Given the description of an element on the screen output the (x, y) to click on. 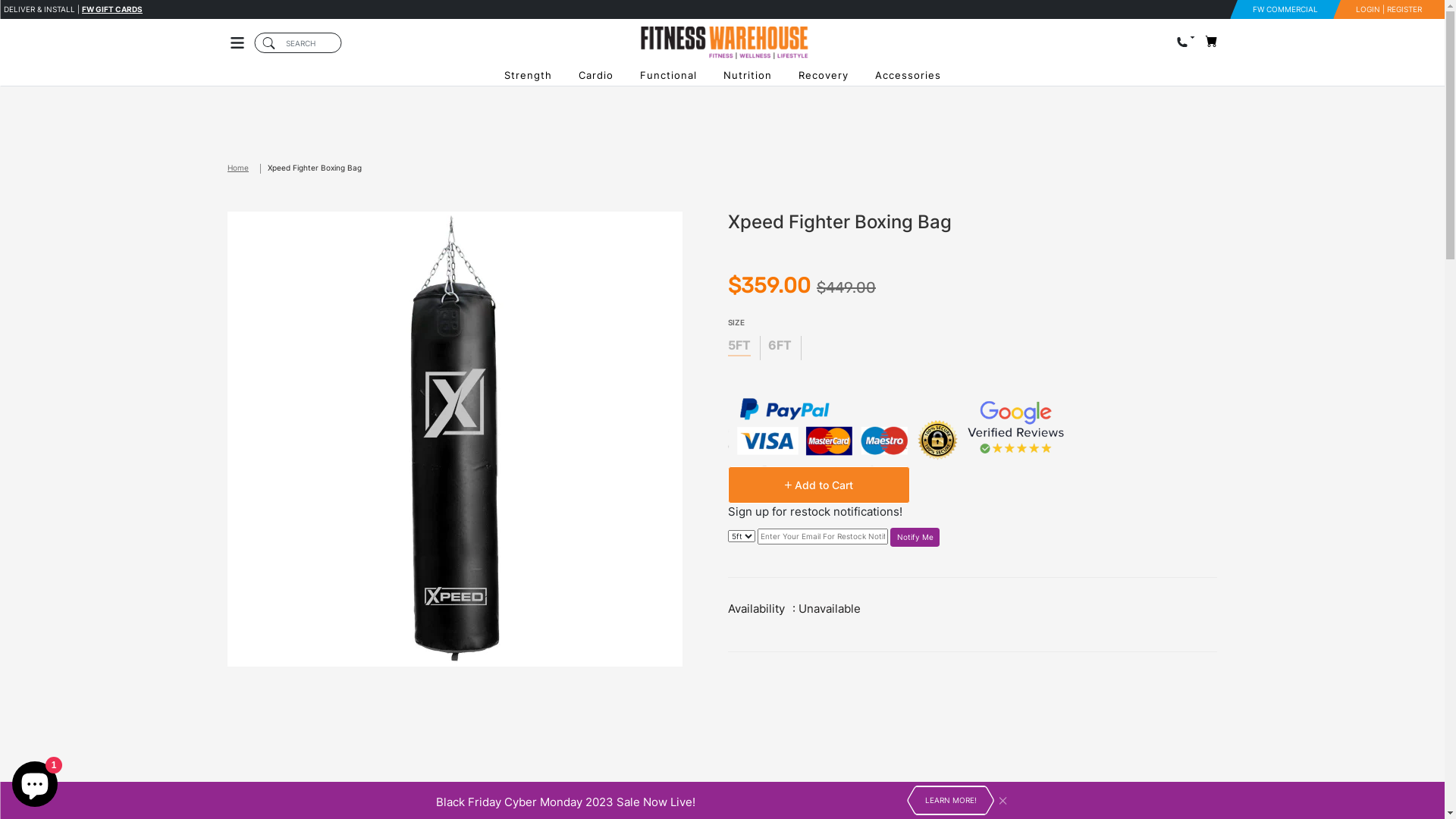
Nutrition Element type: text (747, 75)
FW COMMERCIAL Element type: text (1285, 9)
Functional Element type: text (667, 75)
DELIVER & INSTALL Element type: text (39, 9)
LOGIN Element type: text (1367, 8)
Home Element type: text (247, 167)
Accessories Element type: text (907, 75)
REGISTER Element type: text (1403, 9)
Shopify online store chat Element type: hover (34, 780)
FW GIFT CARDS Element type: text (111, 9)
Add to Cart Element type: text (819, 484)
Recovery Element type: text (822, 75)
LEARN MORE! Element type: text (950, 800)
Strength Element type: text (527, 75)
Cardio Element type: text (595, 75)
